Given the description of an element on the screen output the (x, y) to click on. 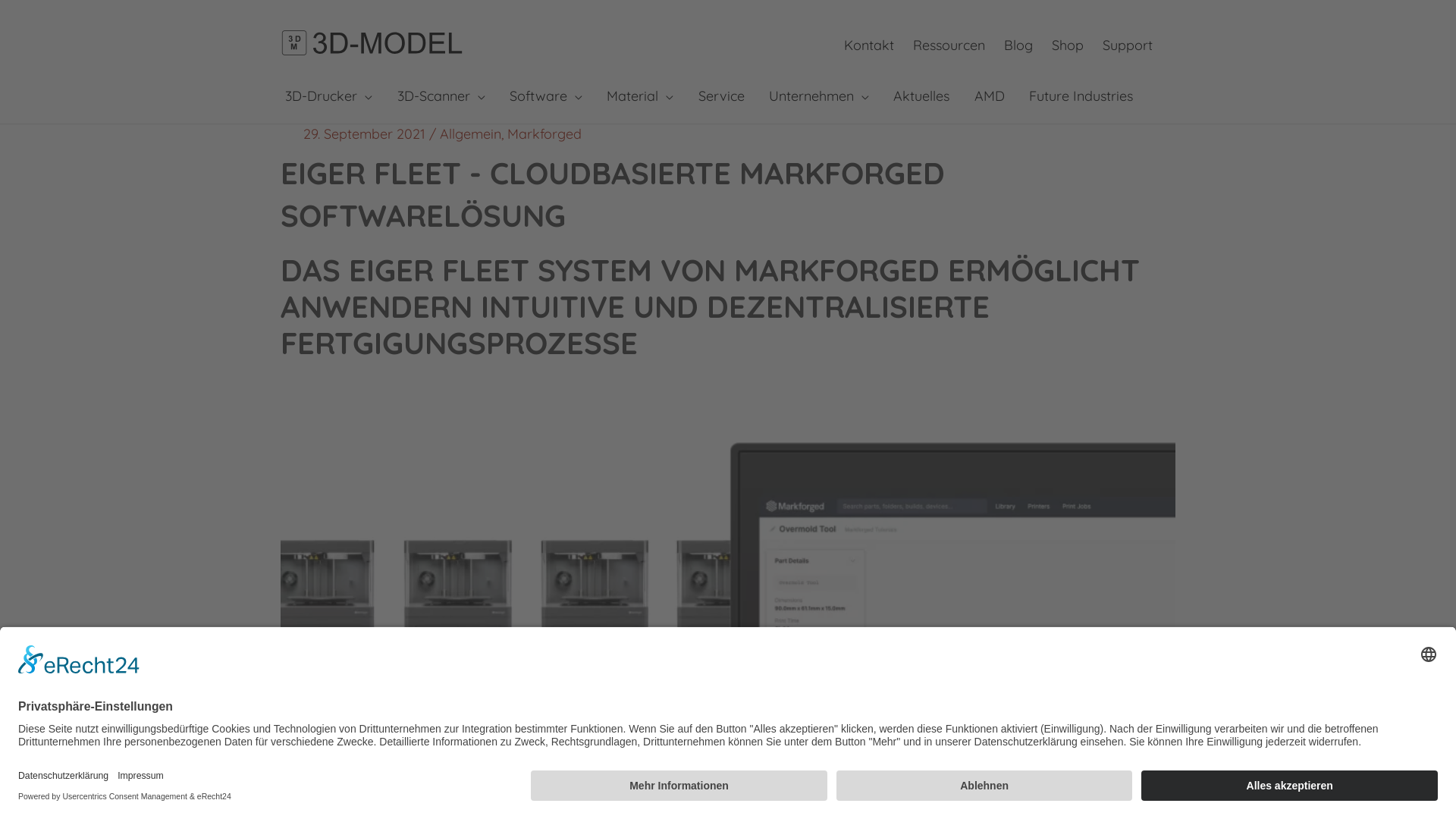
Shop Element type: text (1067, 44)
Markforged Element type: text (544, 133)
Ressourcen Element type: text (949, 44)
Kontakt Element type: text (869, 44)
3D-Scanner Element type: text (440, 96)
Unternehmen Element type: text (818, 96)
Software Element type: text (545, 96)
Service Element type: text (720, 96)
Future Industries Element type: text (1080, 96)
Aktuelles Element type: text (921, 96)
Material Element type: text (639, 96)
Support Element type: text (1127, 44)
Blog Element type: text (1018, 44)
3D-Drucker Element type: text (328, 96)
AMD Element type: text (989, 96)
Allgemein Element type: text (470, 133)
